Given the description of an element on the screen output the (x, y) to click on. 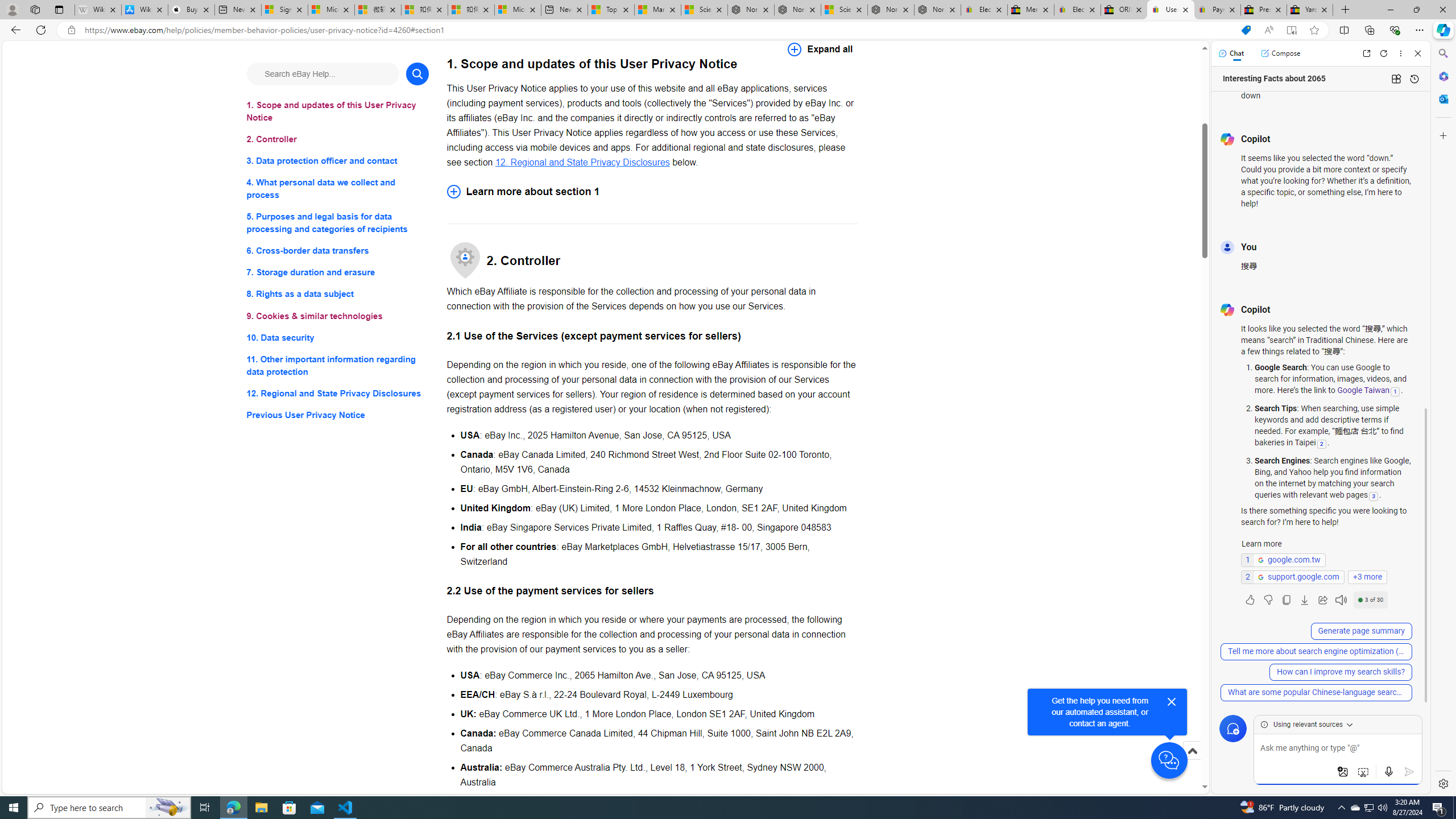
4. What personal data we collect and process (337, 189)
6. Cross-border data transfers (337, 250)
4. What personal data we collect and process (337, 189)
